Given the description of an element on the screen output the (x, y) to click on. 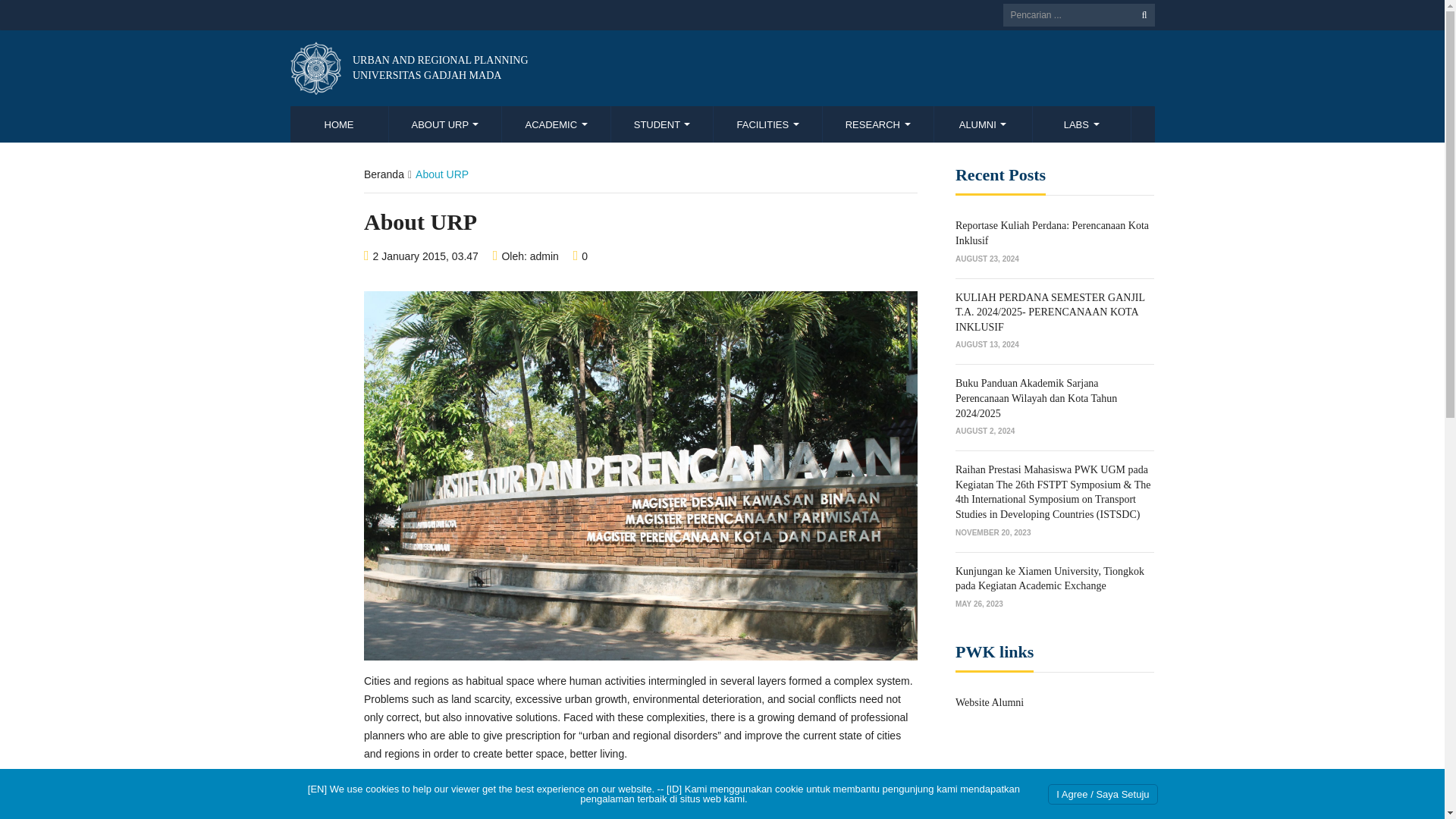
HOME (338, 124)
ACADEMIC (556, 124)
ABOUT URP (408, 68)
Academic (445, 124)
FACILITIES (556, 124)
About URP (767, 124)
STUDENT (445, 124)
Home (662, 124)
